Given the description of an element on the screen output the (x, y) to click on. 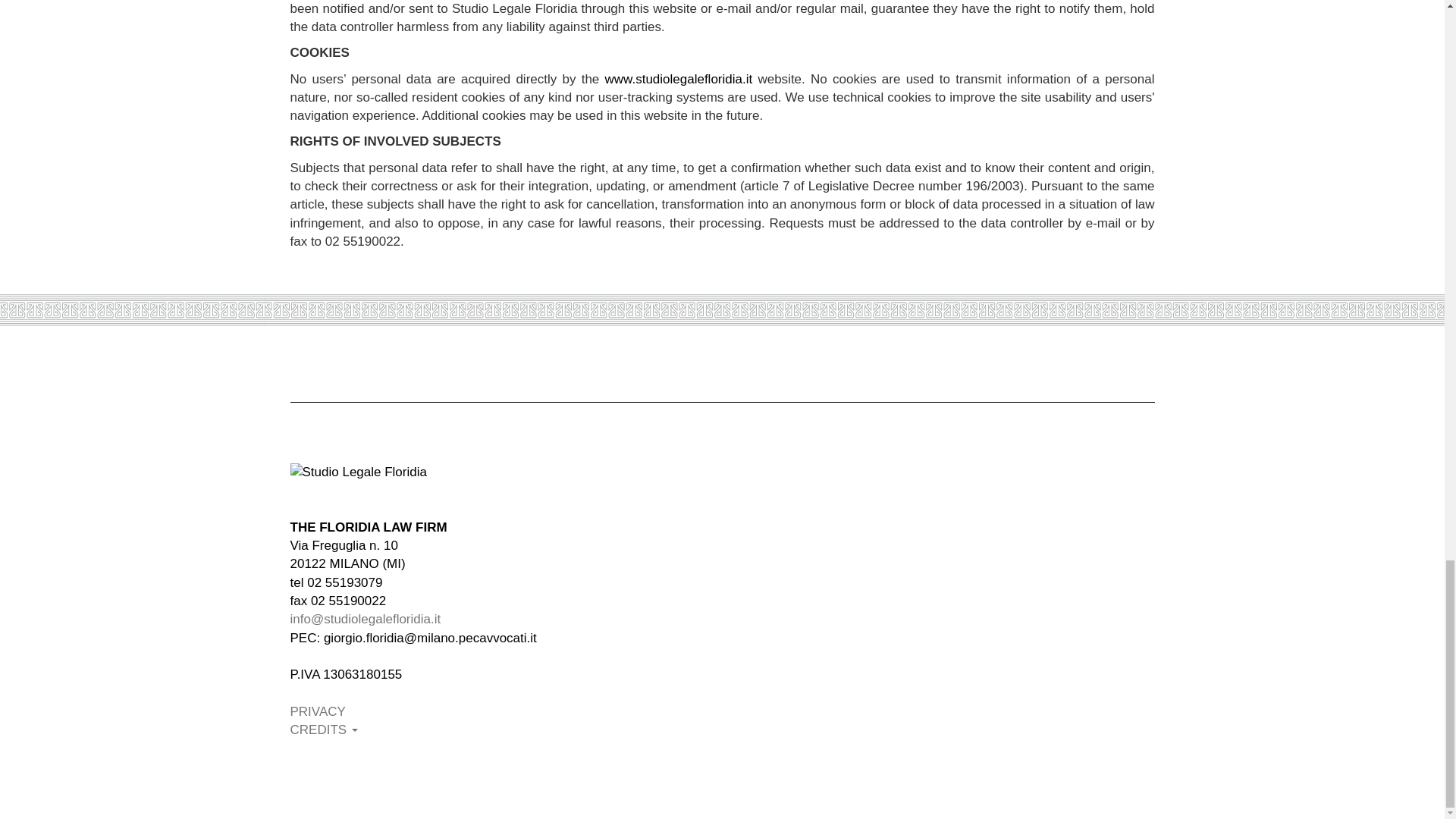
PRIVACY (317, 711)
CREDITS (322, 729)
www.studiolegalefloridia.it (678, 79)
